Given the description of an element on the screen output the (x, y) to click on. 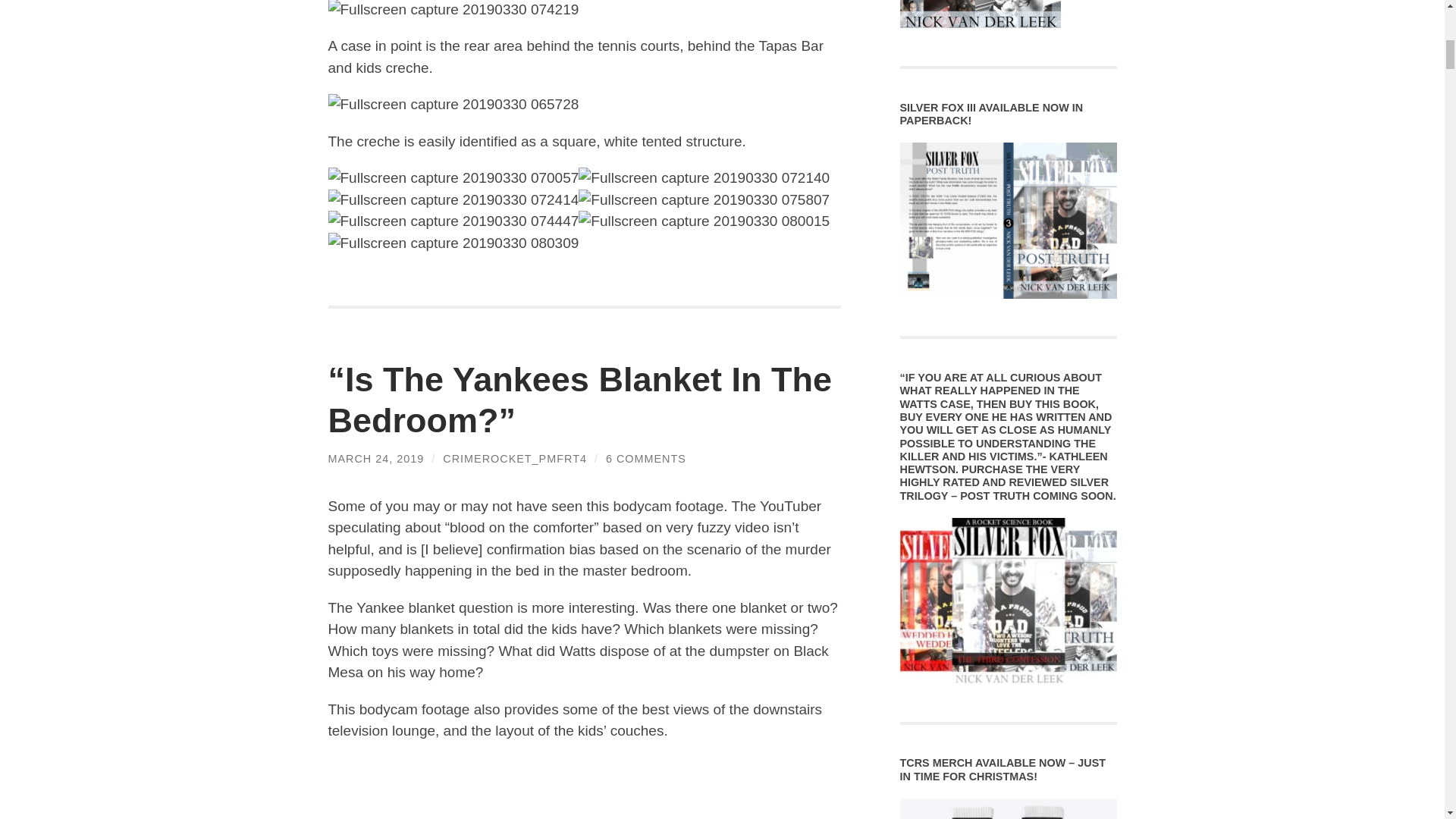
MARCH 24, 2019 (375, 458)
6 COMMENTS (645, 458)
